Given the description of an element on the screen output the (x, y) to click on. 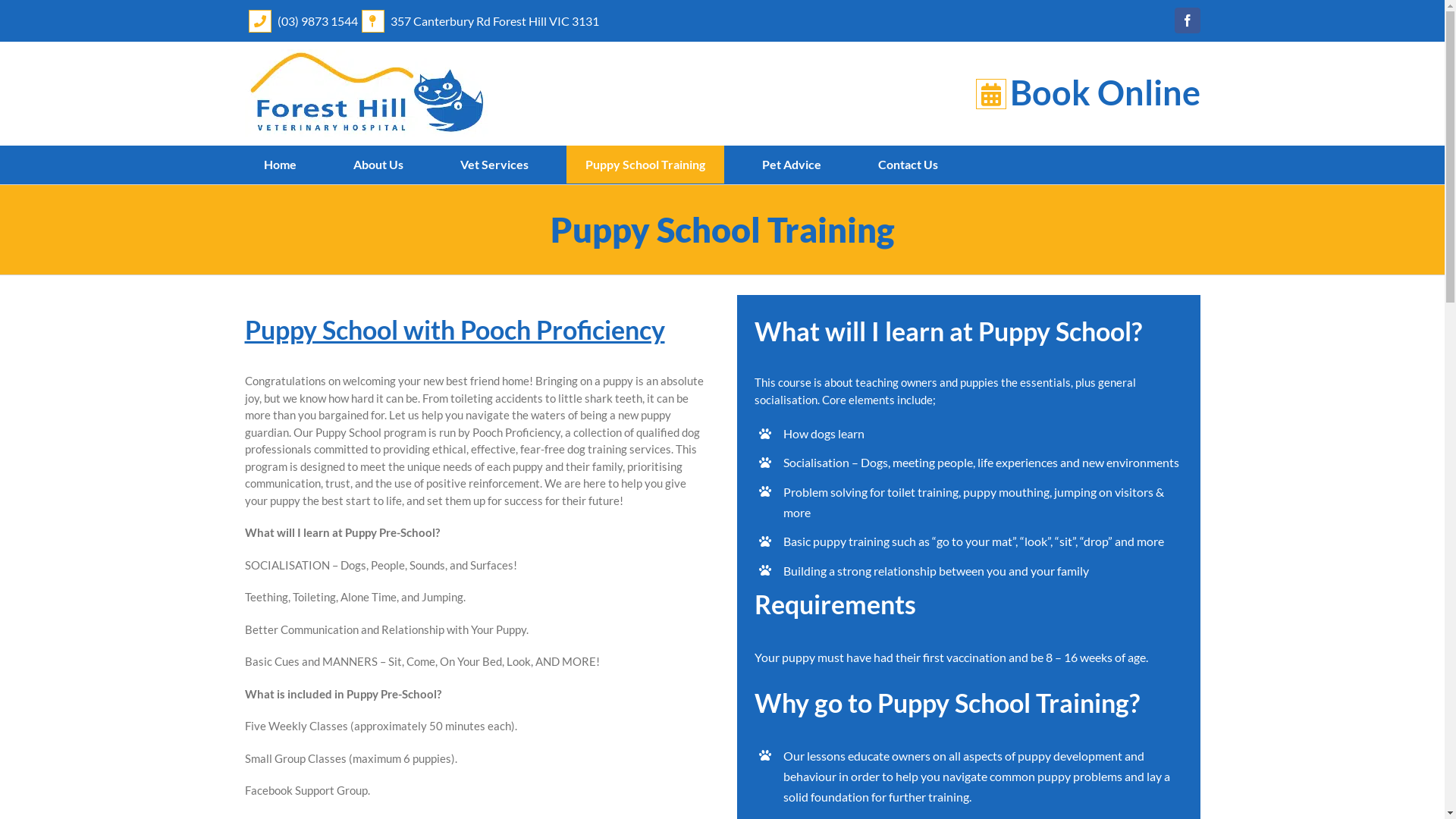
Puppy School Training Element type: text (644, 164)
Vet Services Element type: text (494, 164)
Book Online Element type: text (1105, 93)
Facebook Element type: text (1186, 20)
Pet Advice Element type: text (791, 164)
Home Element type: text (279, 164)
Contact Us Element type: text (907, 164)
357 Canterbury Rd Forest Hill VIC 3131 Element type: text (493, 20)
About Us Element type: text (377, 164)
(03) 9873 1544 Element type: text (317, 20)
